Given the description of an element on the screen output the (x, y) to click on. 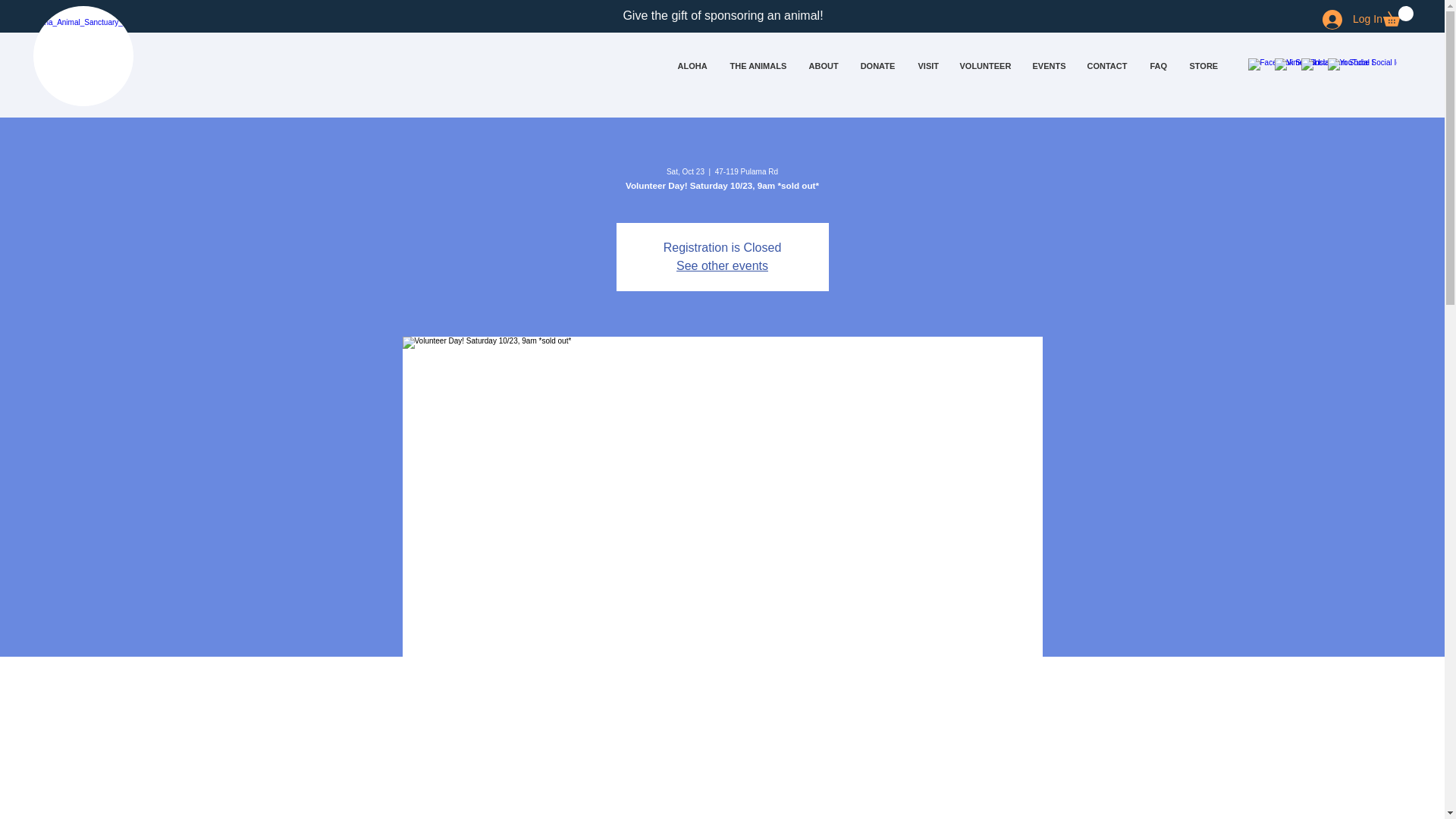
EVENTS (1047, 65)
ALOHA (691, 65)
CONTACT (1106, 65)
ABOUT (822, 65)
VOLUNTEER (983, 65)
Log In (1342, 19)
See other events (722, 265)
FAQ (1157, 65)
Give the gift of sponsoring an animal! (722, 15)
THE ANIMALS (758, 65)
